Given the description of an element on the screen output the (x, y) to click on. 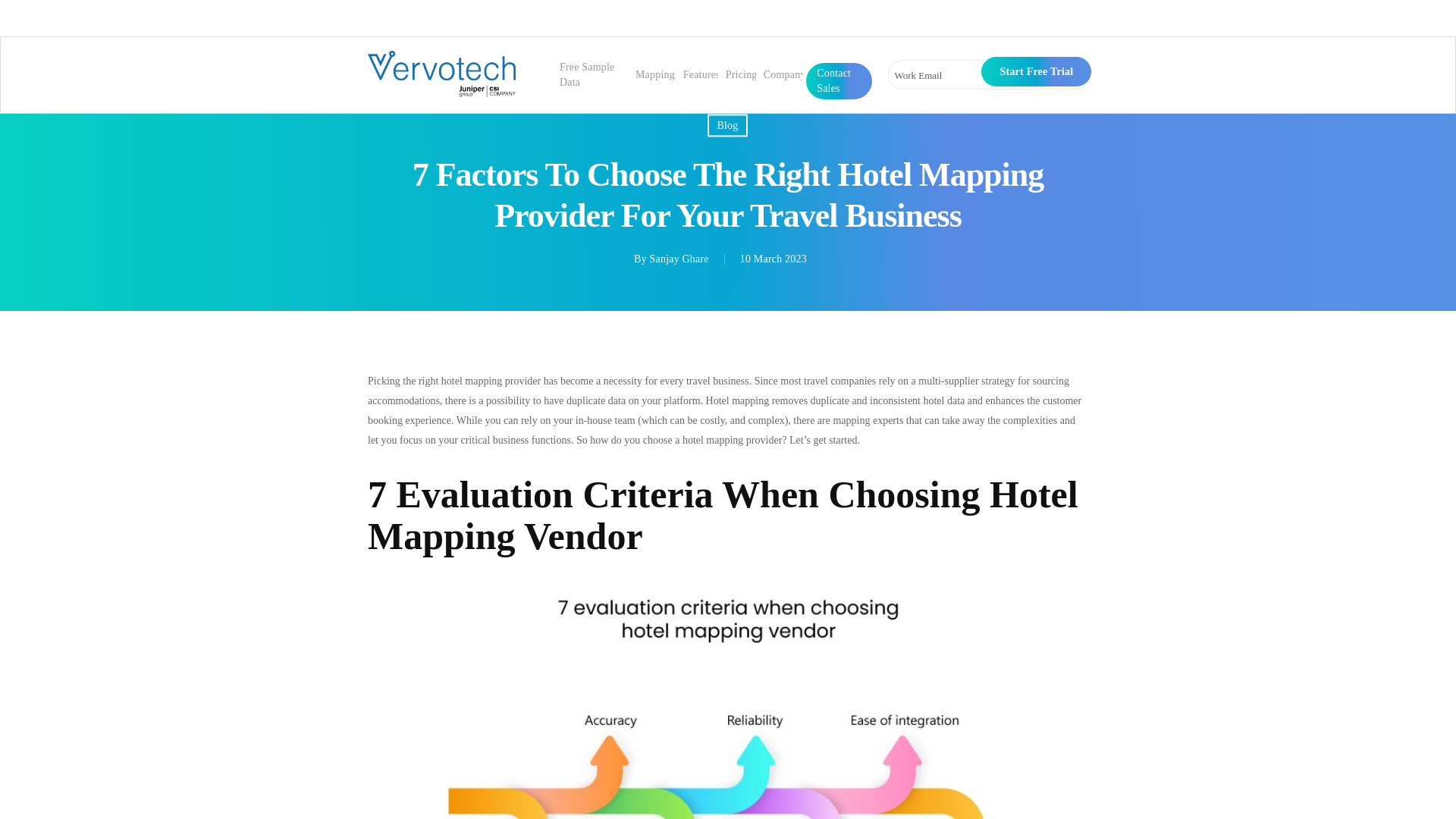
Start Free Trial (1035, 71)
Free Sample Data (589, 74)
Company (784, 74)
Features (701, 74)
Mappings (656, 74)
Start Free Trial (1035, 71)
Posts by Sanjay Ghare (679, 258)
Contact Sales (839, 81)
Pricing (741, 74)
